Given the description of an element on the screen output the (x, y) to click on. 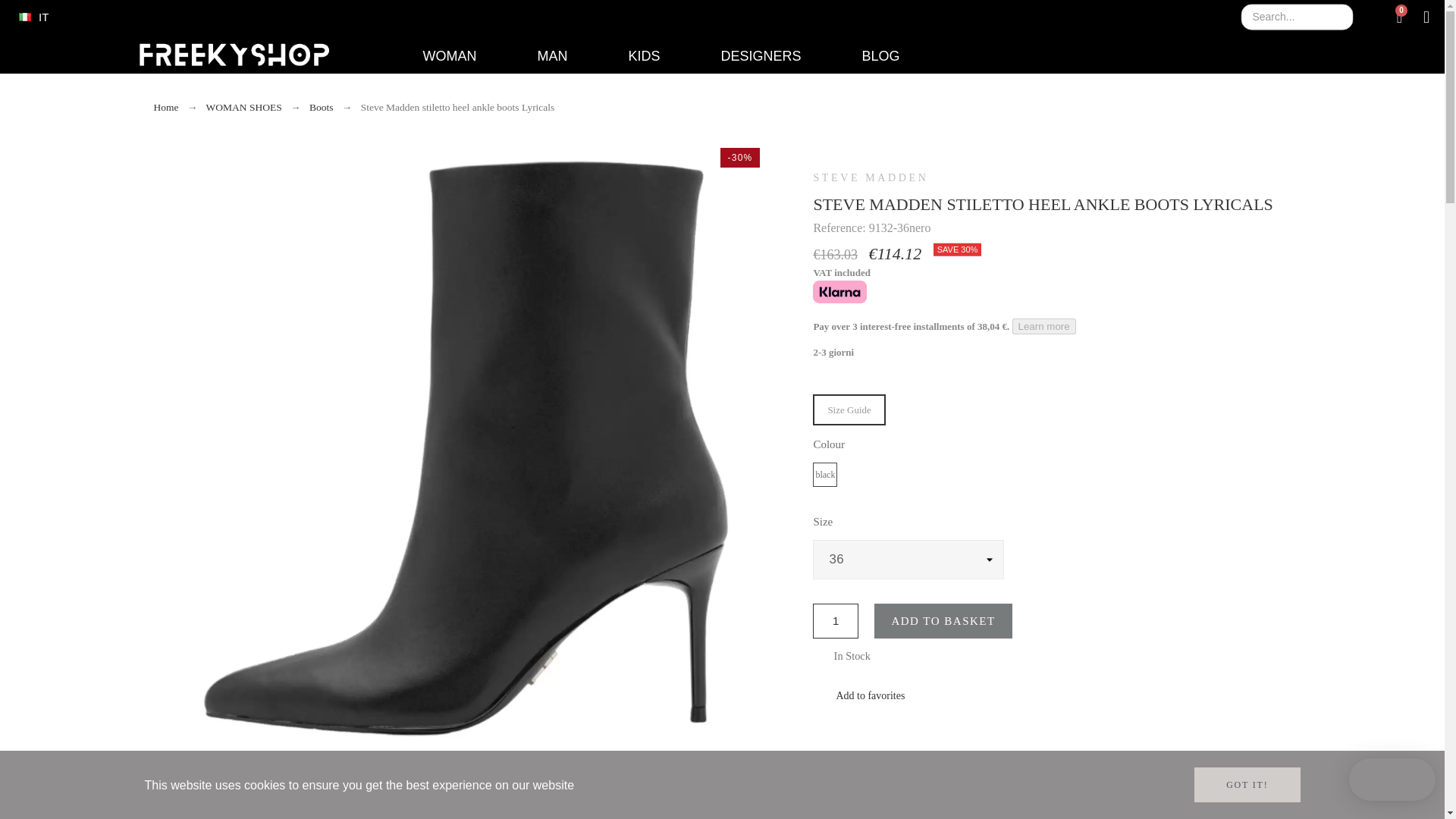
1 (835, 620)
IT (34, 17)
WOMAN (464, 56)
